Given the description of an element on the screen output the (x, y) to click on. 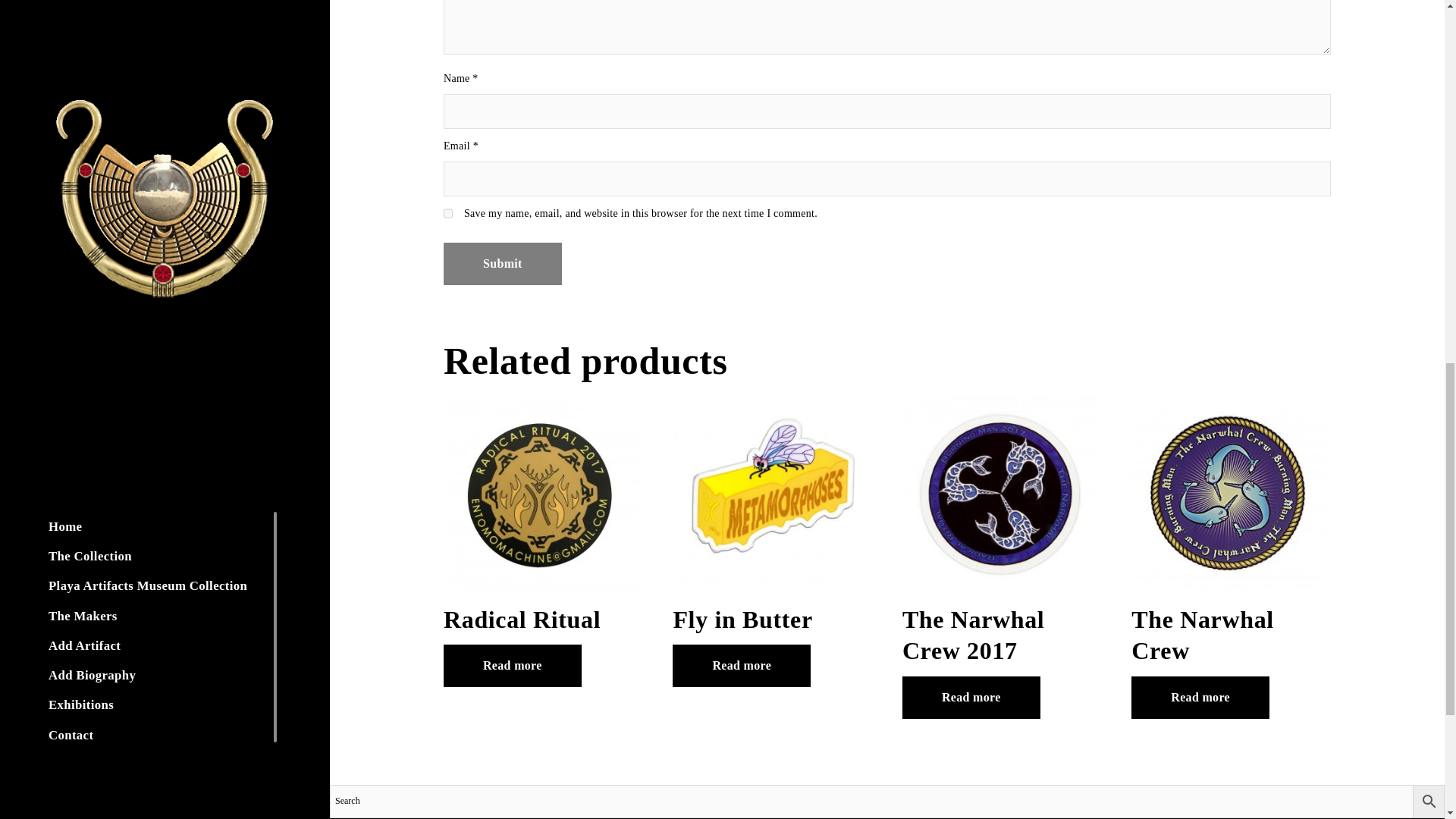
Submit (503, 263)
Read more (512, 665)
Submit (503, 263)
Fly in Butter (769, 518)
The Narwhal Crew 2017 (999, 533)
Read more (971, 697)
Read more (741, 665)
Radical Ritual (541, 518)
The Narwhal Crew (1228, 533)
Read more (1200, 697)
yes (448, 213)
